Given the description of an element on the screen output the (x, y) to click on. 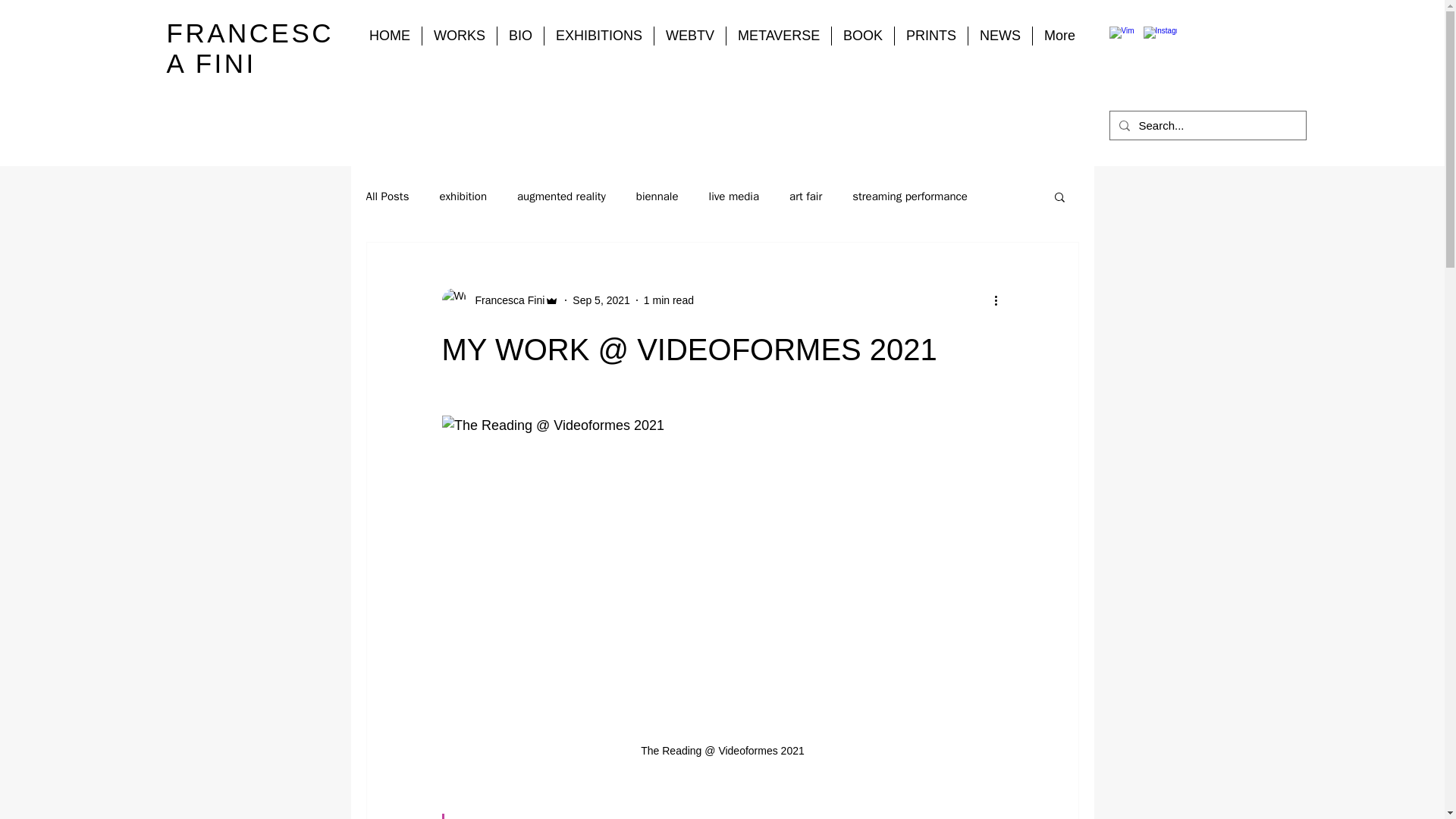
FRANCESCA FINI (250, 47)
augmented reality (560, 196)
NEWS (1000, 35)
Sep 5, 2021 (601, 300)
biennale (657, 196)
BOOK (862, 35)
EXHIBITIONS (598, 35)
1 min read (668, 300)
Francesca Fini (504, 300)
PRINTS (931, 35)
exhibition (462, 196)
WEBTV (689, 35)
HOME (390, 35)
live media (734, 196)
streaming performance (909, 196)
